Given the description of an element on the screen output the (x, y) to click on. 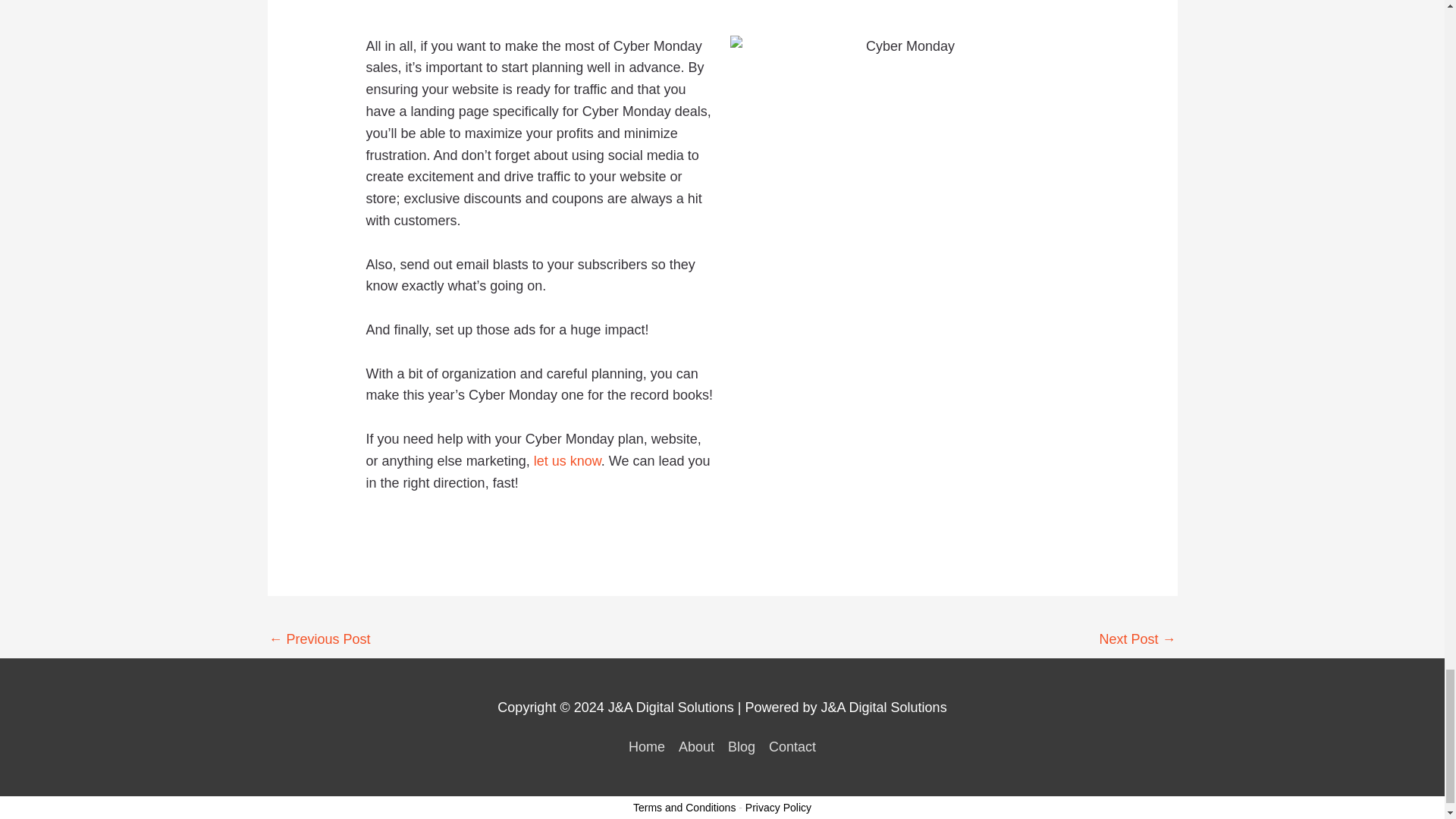
SEO vs PPC - Which One Do You Need Immediately? (318, 640)
Privacy Policy (777, 807)
Contact (788, 746)
Home (649, 746)
Terms and Conditions (684, 807)
About (695, 746)
let us know (567, 460)
In-House Marketing vs Agency: What You Need To Know (1136, 640)
Blog (740, 746)
